Given the description of an element on the screen output the (x, y) to click on. 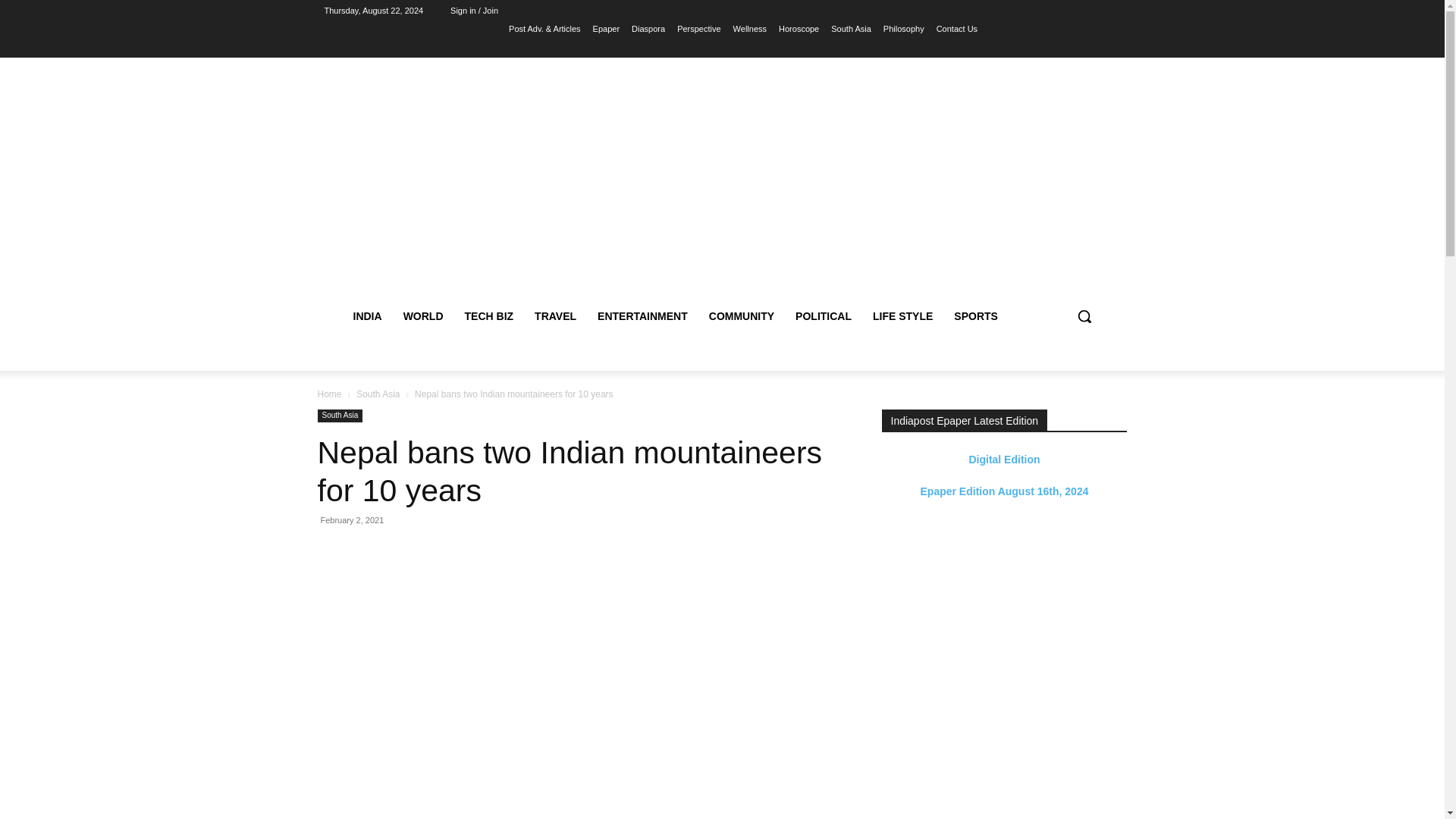
View all posts in South Asia (377, 394)
LIFE STYLE (902, 316)
COMMUNITY (741, 316)
Diaspora (648, 28)
Home (328, 394)
Philosophy (903, 28)
South Asia (850, 28)
POLITICAL (822, 316)
South Asia (377, 394)
TRAVEL (555, 316)
